Given the description of an element on the screen output the (x, y) to click on. 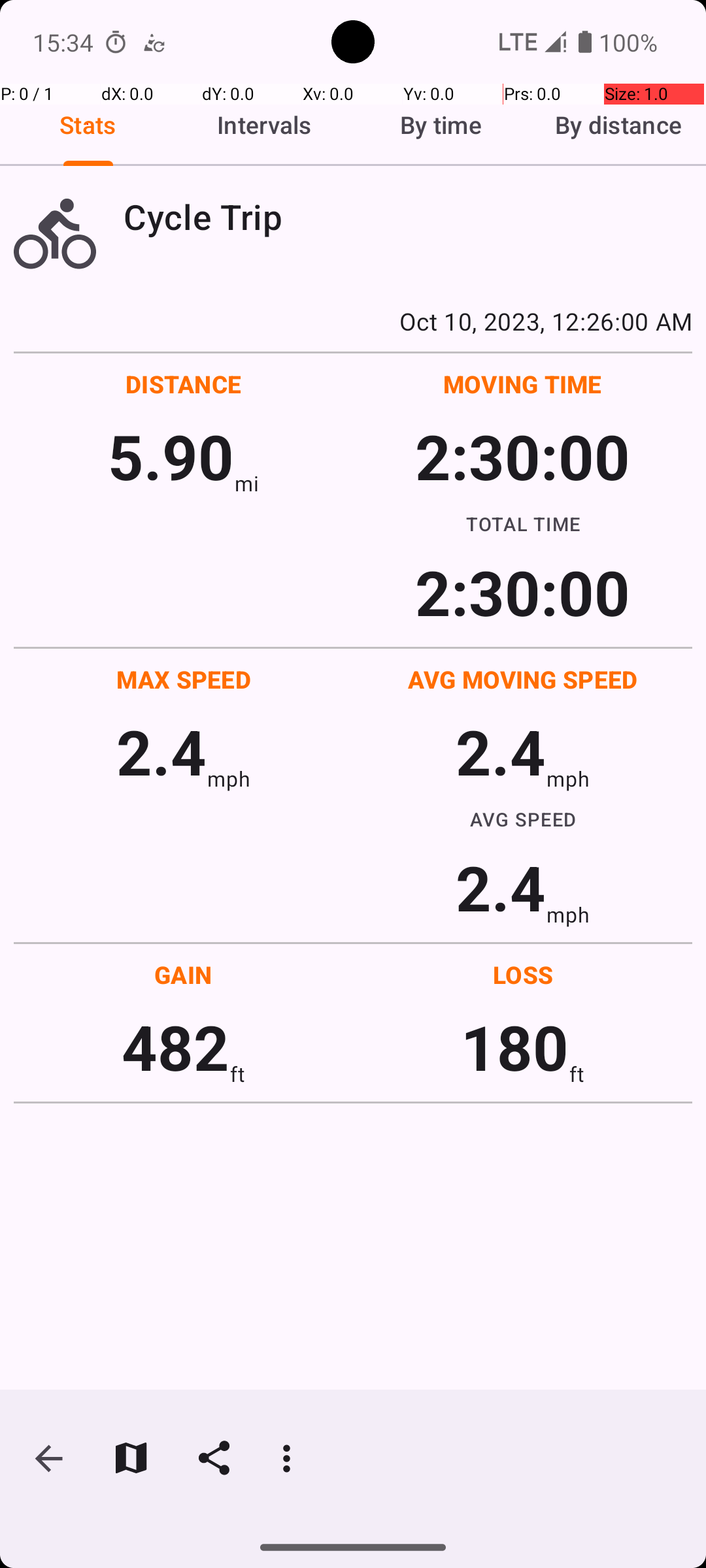
Oct 10, 2023, 12:26:00 AM Element type: android.widget.TextView (352, 320)
5.90 Element type: android.widget.TextView (170, 455)
2:30:00 Element type: android.widget.TextView (522, 455)
2.4 Element type: android.widget.TextView (161, 750)
482 Element type: android.widget.TextView (175, 1045)
180 Element type: android.widget.TextView (514, 1045)
